Given the description of an element on the screen output the (x, y) to click on. 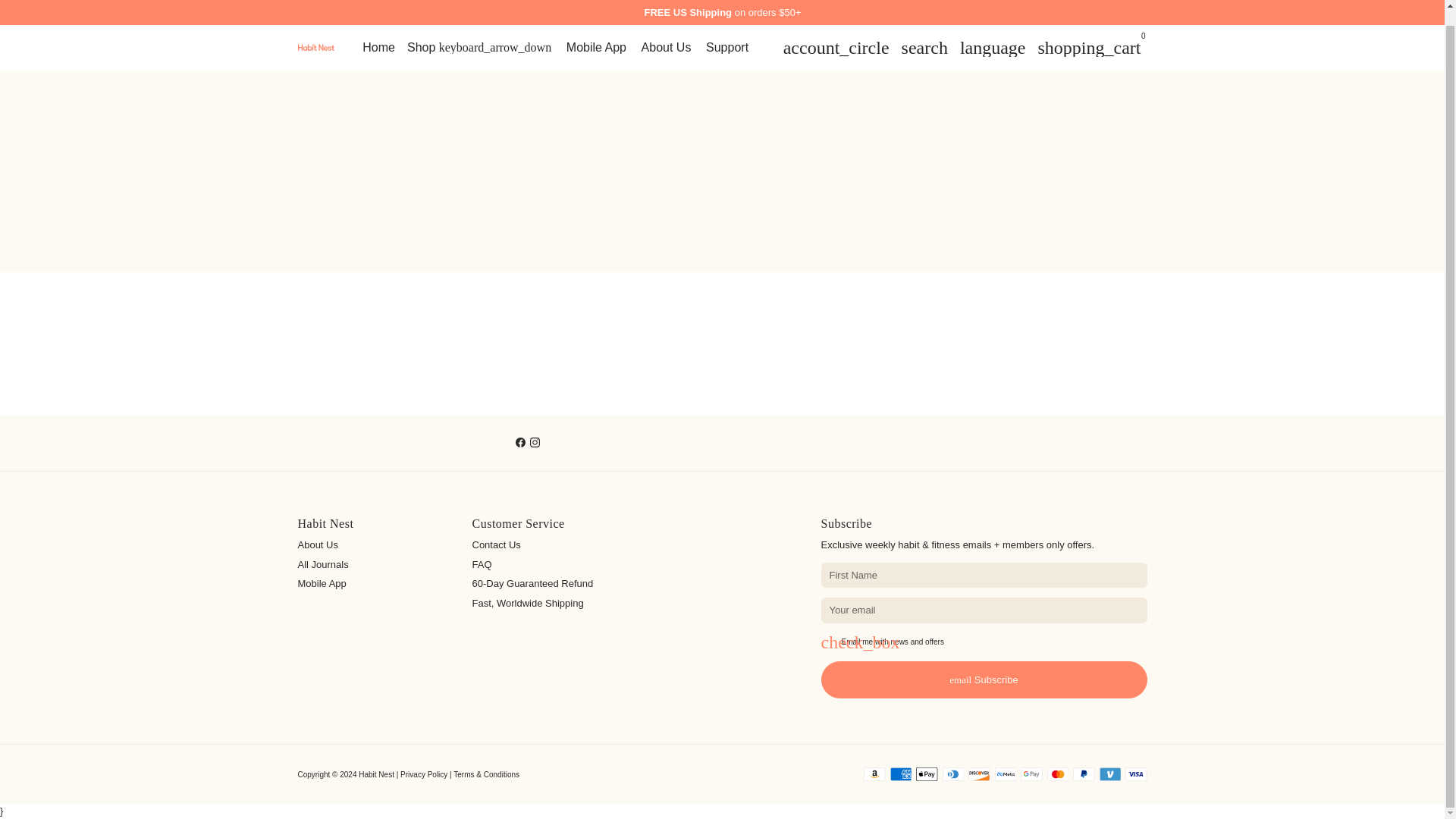
Search (924, 31)
Mobile App (595, 31)
search (924, 31)
Habit Nest on Facebook (520, 442)
Habit Nest on Instagram (534, 442)
Cart (1089, 31)
Support (727, 31)
Log In (836, 31)
About Us (665, 31)
Home (378, 31)
